Given the description of an element on the screen output the (x, y) to click on. 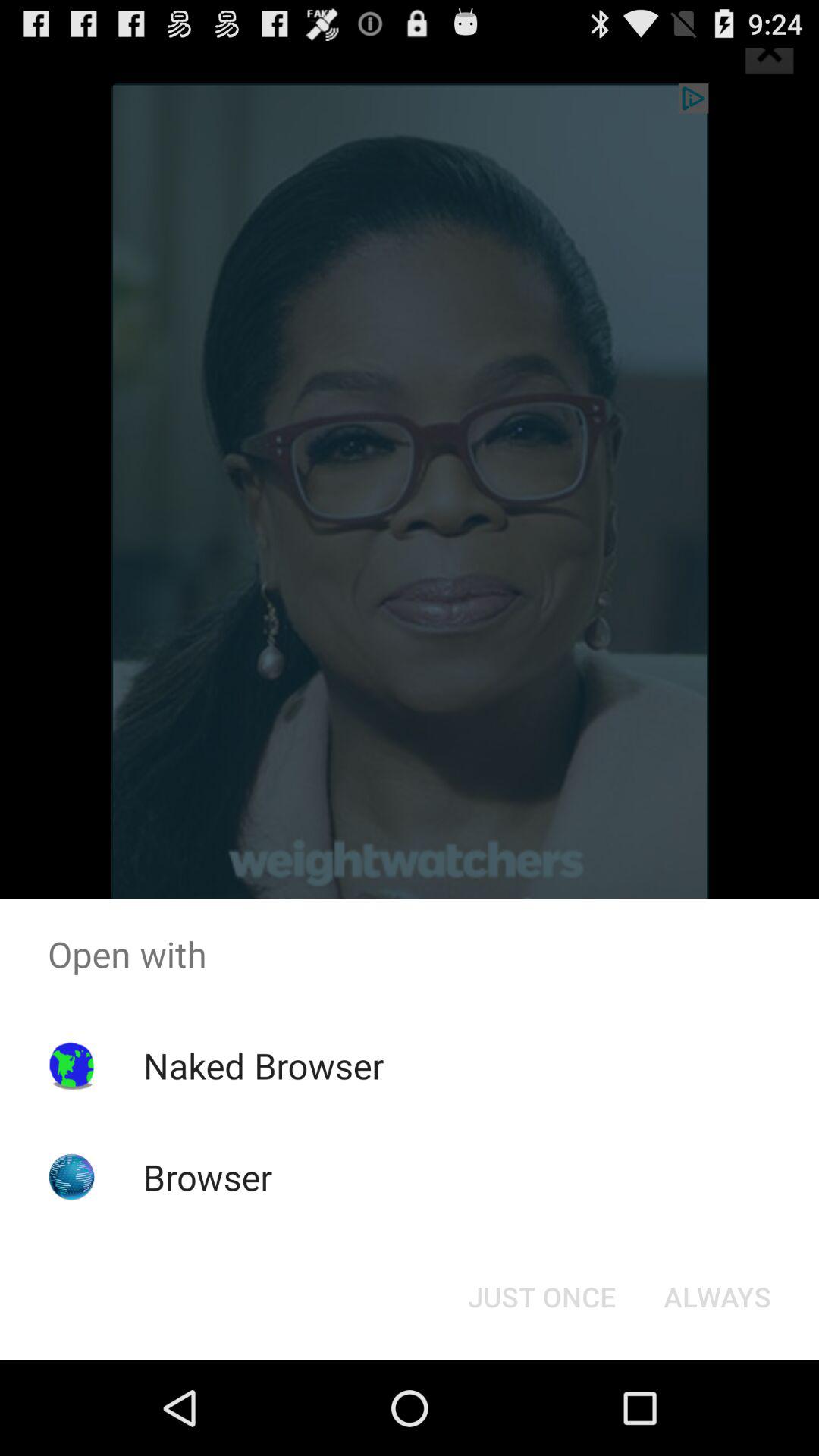
turn on the naked browser (263, 1065)
